Given the description of an element on the screen output the (x, y) to click on. 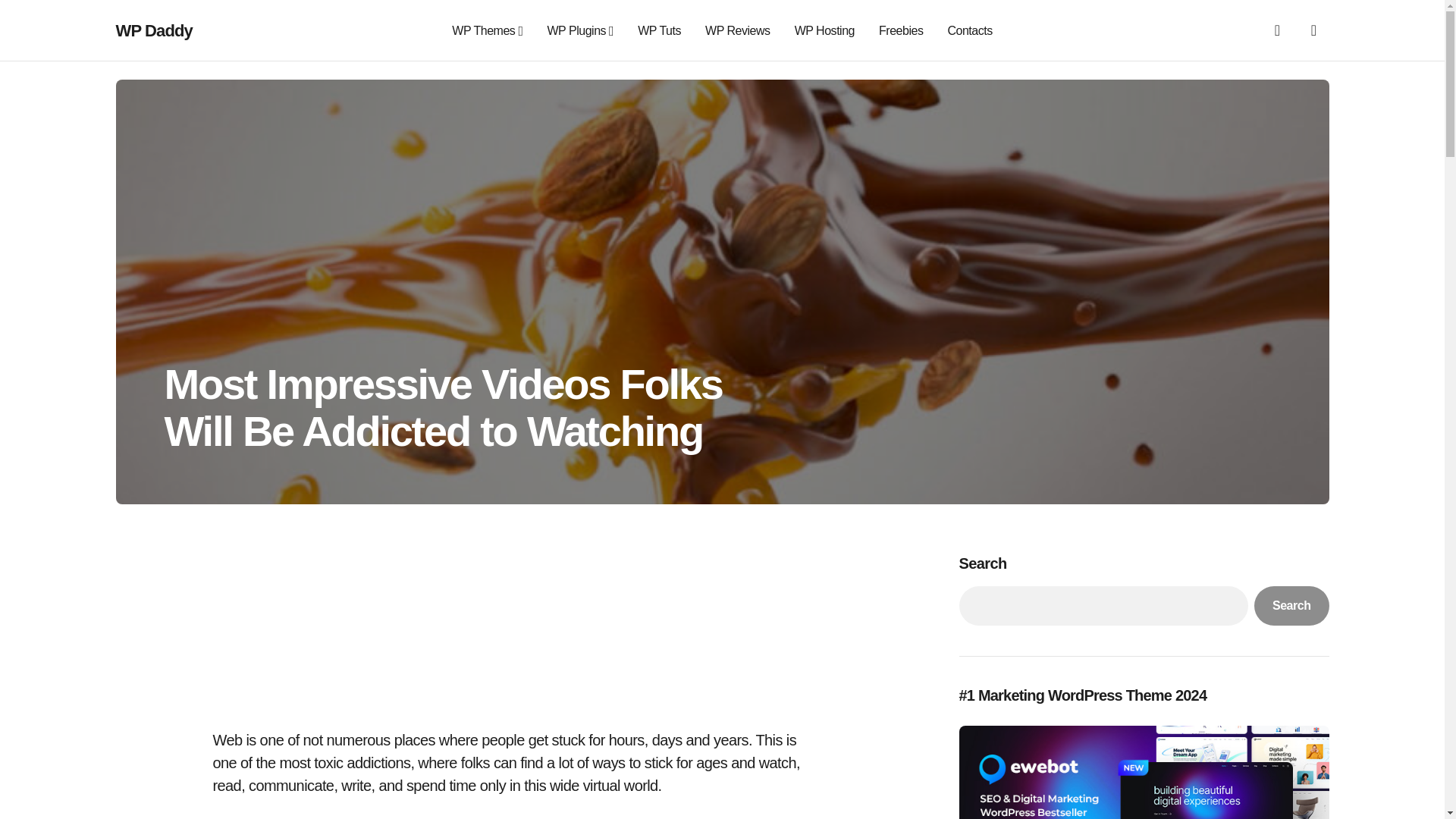
WP Reviews (737, 30)
WP Plugins (580, 30)
Advertisement (515, 628)
WP Hosting (824, 30)
WP Daddy (153, 30)
WP Themes (486, 30)
